Given the description of an element on the screen output the (x, y) to click on. 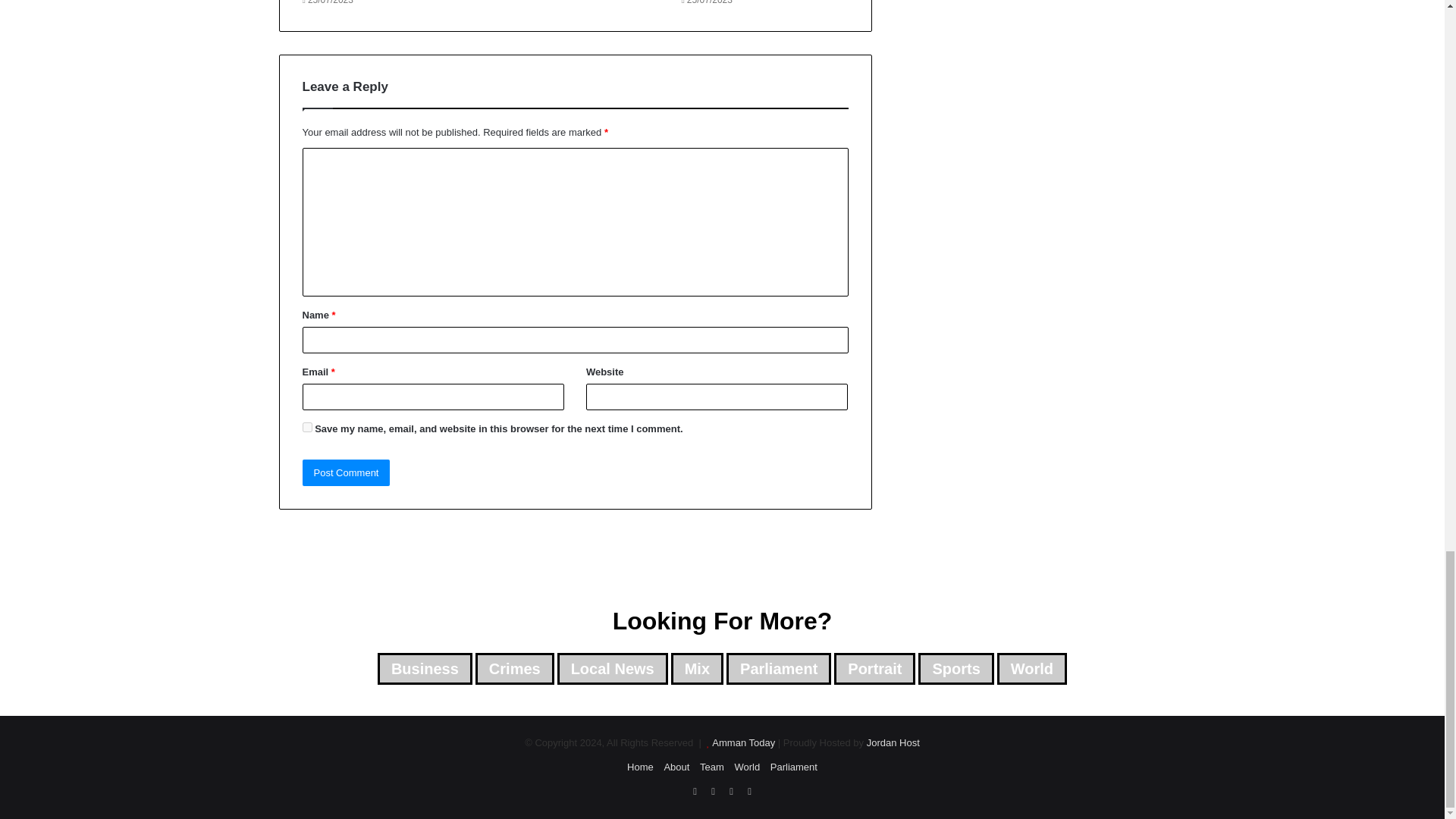
Post Comment (345, 472)
yes (306, 427)
